Given the description of an element on the screen output the (x, y) to click on. 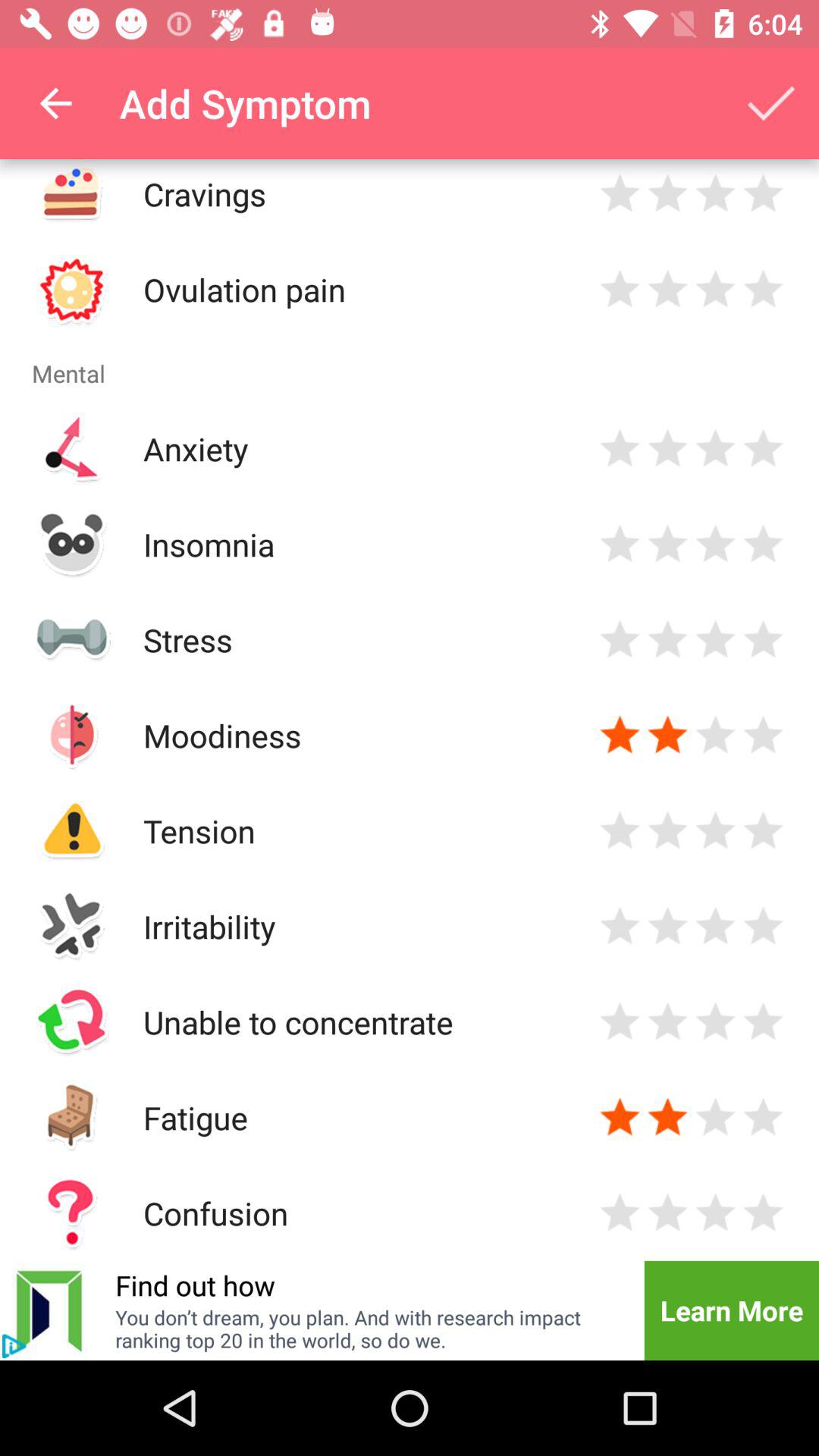
star rating (667, 639)
